Given the description of an element on the screen output the (x, y) to click on. 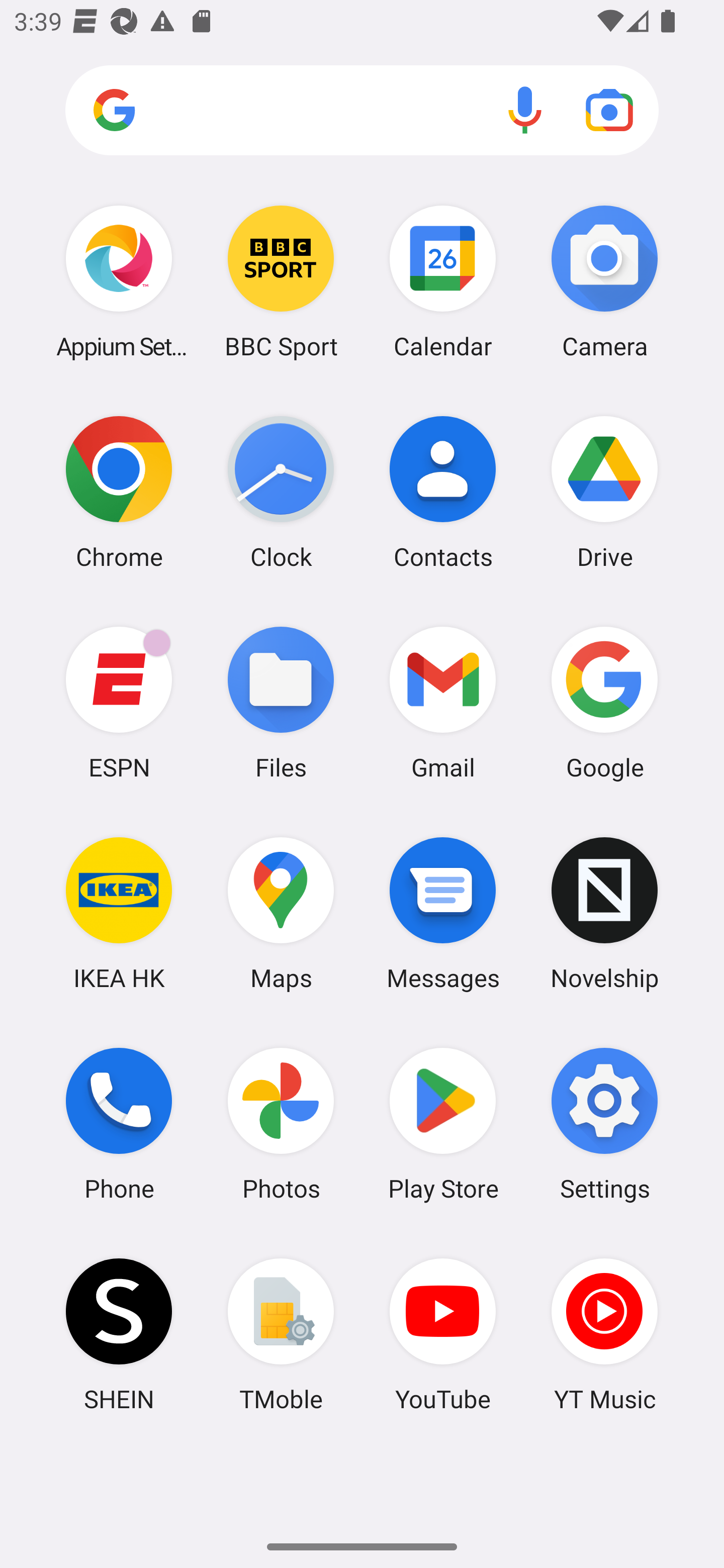
Search apps, web and more (361, 110)
Voice search (524, 109)
Google Lens (608, 109)
Appium Settings (118, 281)
BBC Sport (280, 281)
Calendar (443, 281)
Camera (604, 281)
Chrome (118, 492)
Clock (280, 492)
Contacts (443, 492)
Drive (604, 492)
ESPN ESPN has 3 notifications (118, 702)
Files (280, 702)
Gmail (443, 702)
Google (604, 702)
IKEA HK (118, 913)
Maps (280, 913)
Messages (443, 913)
Novelship (604, 913)
Phone (118, 1124)
Photos (280, 1124)
Play Store (443, 1124)
Settings (604, 1124)
SHEIN (118, 1334)
TMoble (280, 1334)
YouTube (443, 1334)
YT Music (604, 1334)
